Given the description of an element on the screen output the (x, y) to click on. 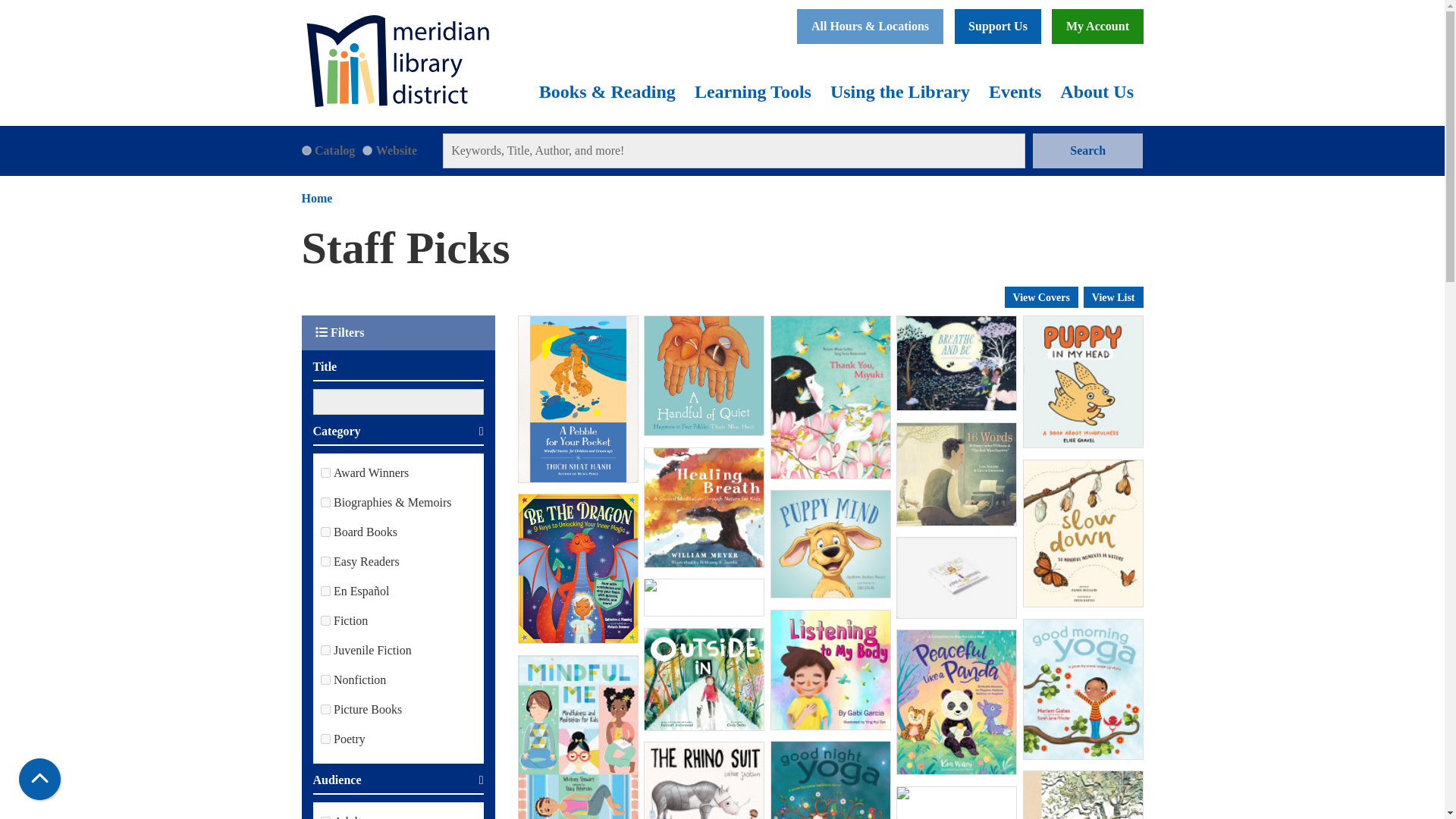
My Account (1096, 26)
Home (398, 61)
286 (325, 679)
319 (325, 532)
Support Us (998, 26)
374 (325, 501)
327 (325, 591)
290 (325, 709)
291 (325, 561)
on (306, 150)
324 (325, 472)
on (367, 150)
321 (325, 738)
